Given the description of an element on the screen output the (x, y) to click on. 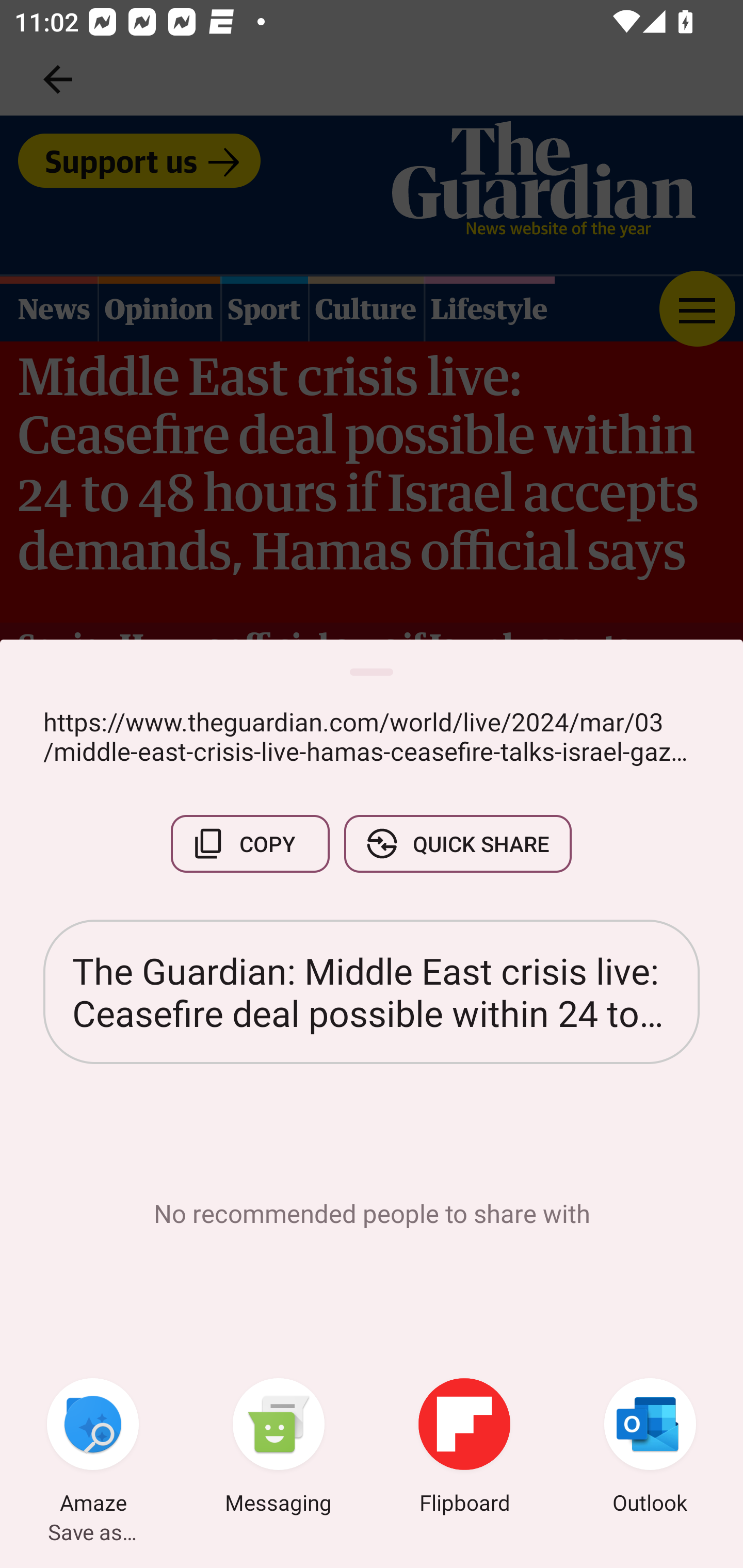
COPY (249, 844)
QUICK SHARE (457, 844)
Amaze Save as… (92, 1448)
Messaging (278, 1448)
Flipboard (464, 1448)
Outlook (650, 1448)
